Given the description of an element on the screen output the (x, y) to click on. 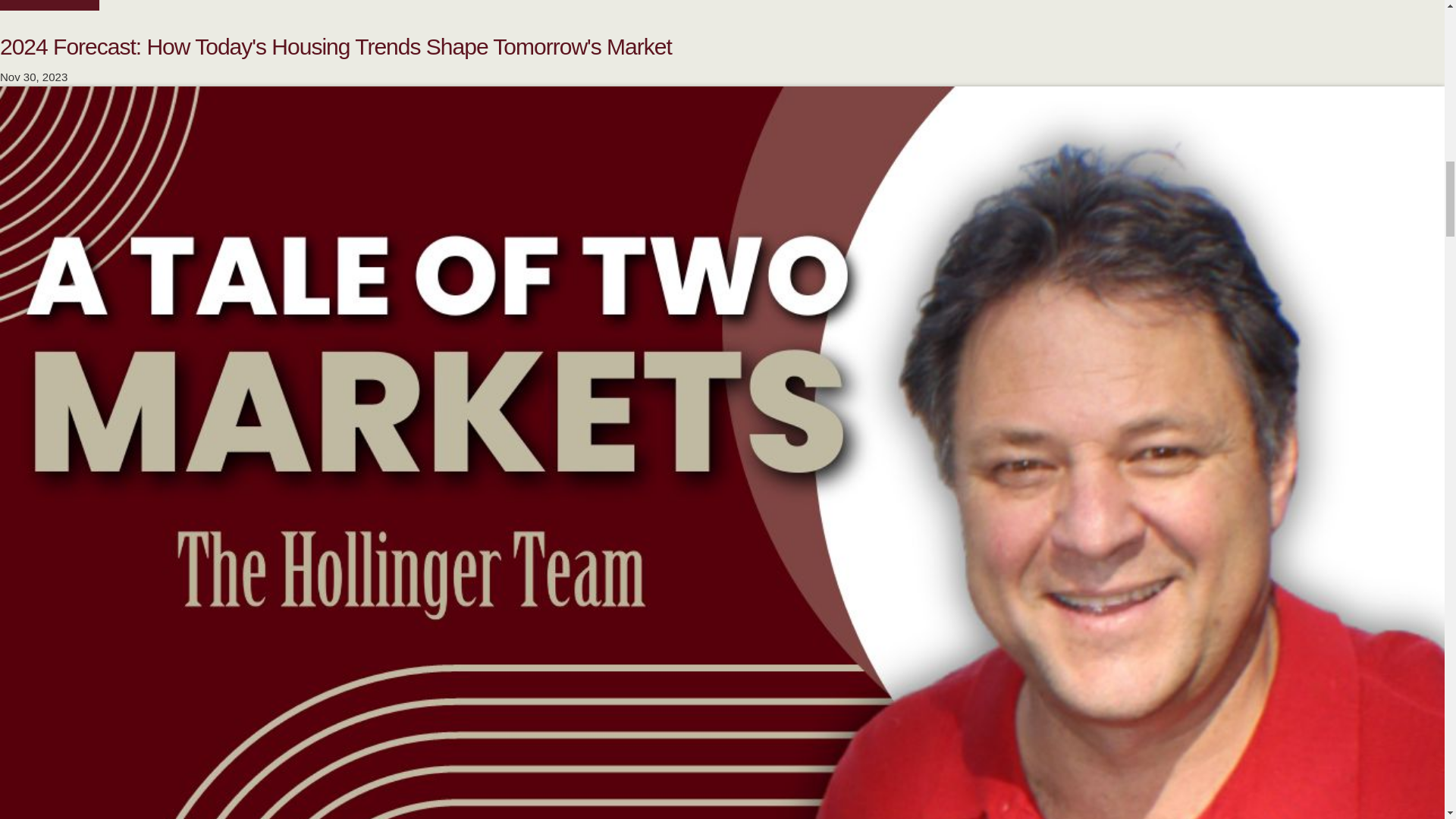
Read More (48, 5)
